Given the description of an element on the screen output the (x, y) to click on. 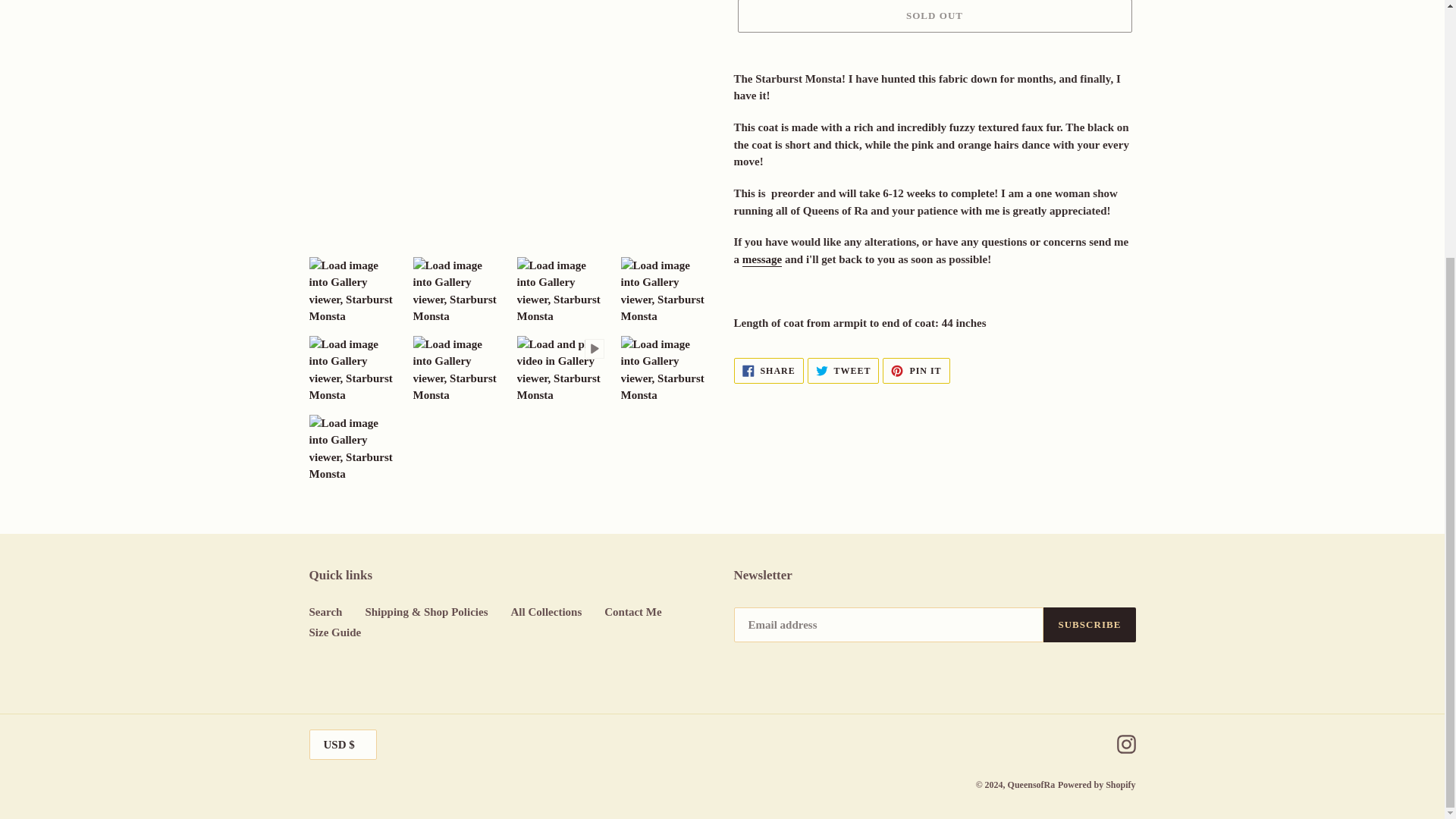
message (915, 370)
SOLD OUT (768, 370)
Search (762, 259)
